Given the description of an element on the screen output the (x, y) to click on. 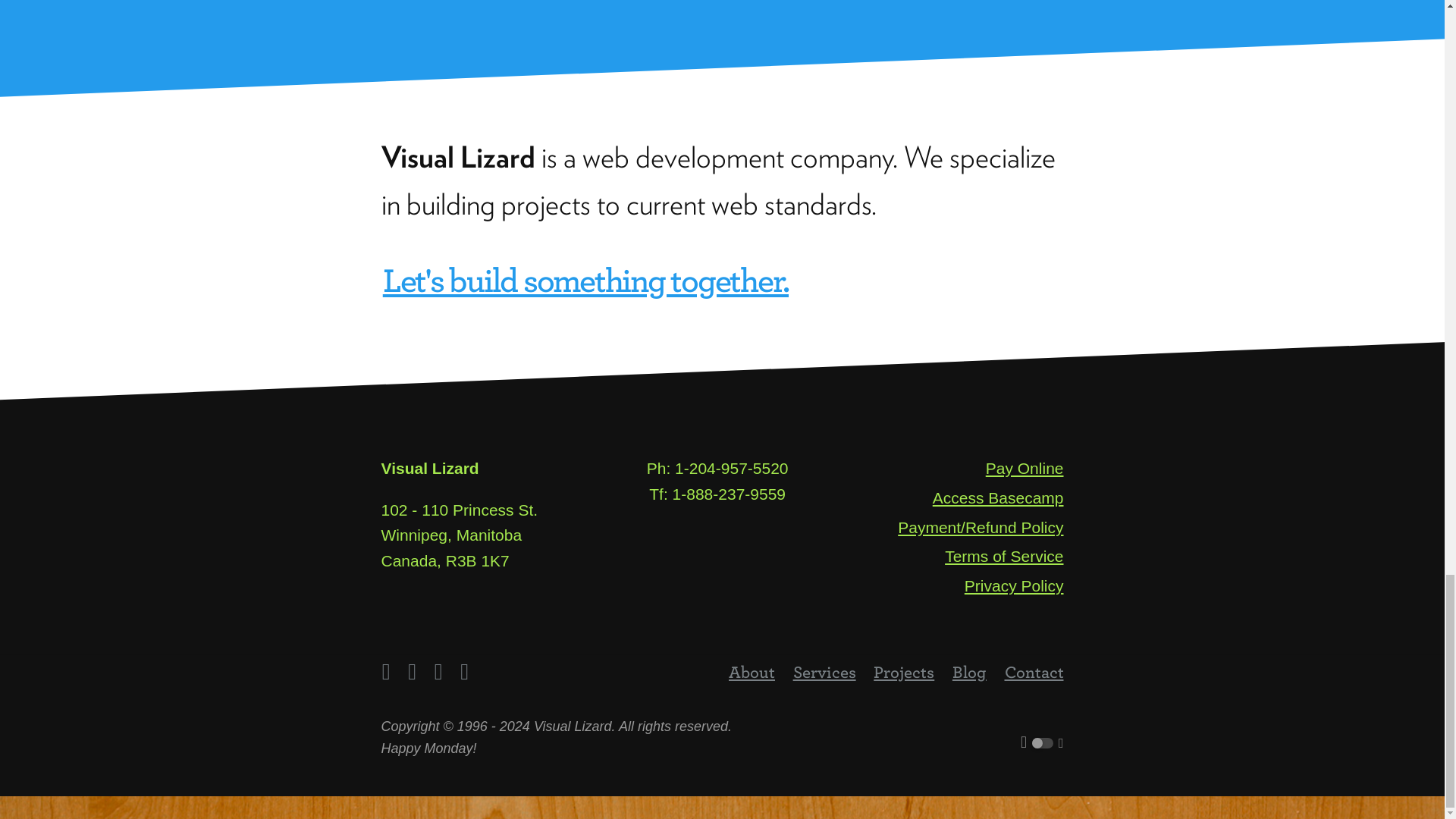
Access Basecamp (997, 498)
Projects (903, 671)
Terms of Service (1003, 556)
Pay Online (1024, 468)
Blog (968, 671)
Privacy Policy (1013, 585)
Services (824, 671)
About (751, 671)
Contact (1033, 671)
Let's build something together. (585, 279)
